Given the description of an element on the screen output the (x, y) to click on. 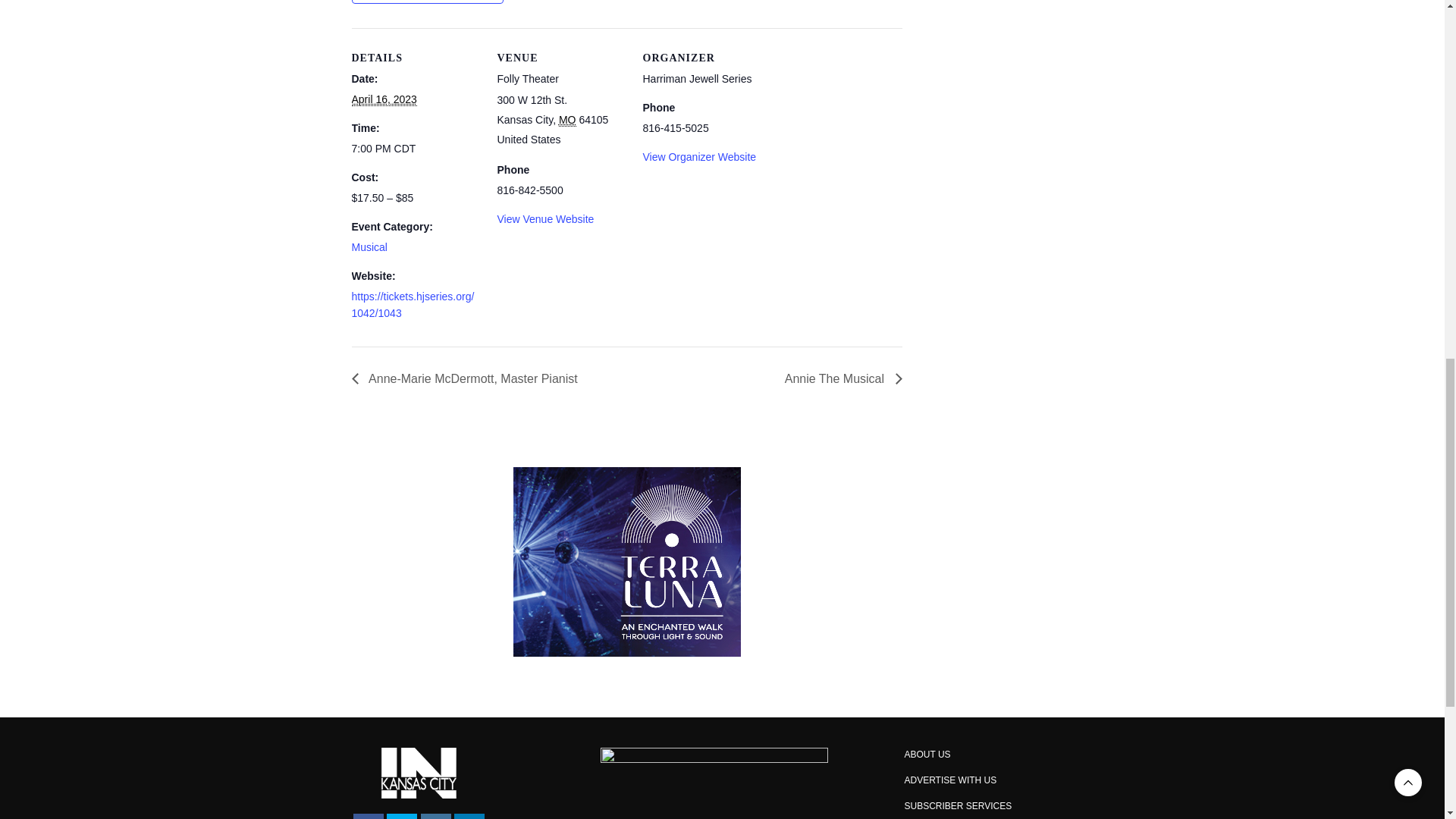
2023-04-16 (384, 99)
Missouri (567, 119)
2023-04-16 (415, 148)
